Given the description of an element on the screen output the (x, y) to click on. 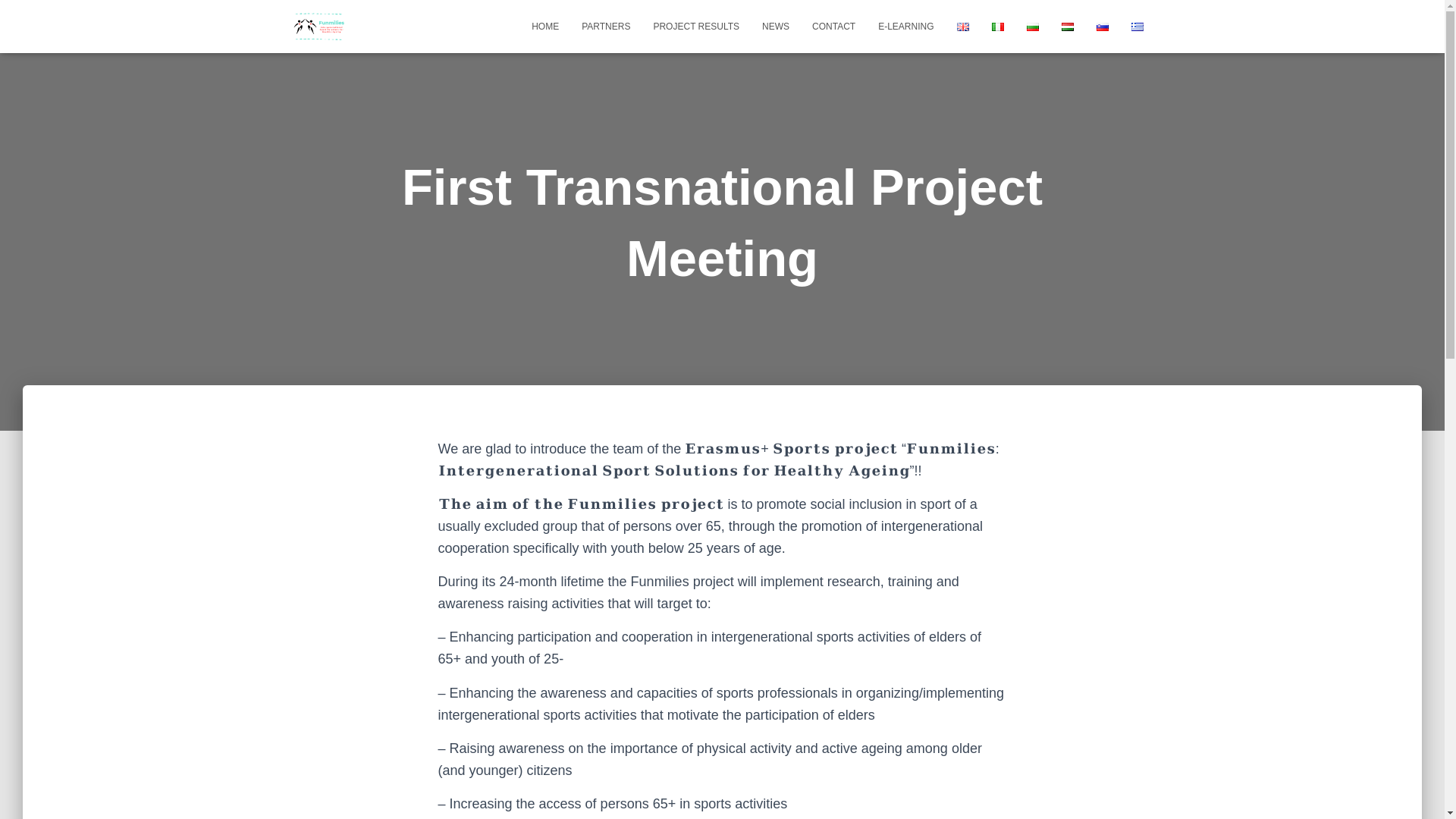
HOME (544, 26)
PROJECT RESULTS (696, 26)
The Funmilies Project (318, 26)
E-learning (905, 26)
Project Results (696, 26)
Contact (833, 26)
Partners (606, 26)
News (775, 26)
PARTNERS (606, 26)
NEWS (775, 26)
